Given the description of an element on the screen output the (x, y) to click on. 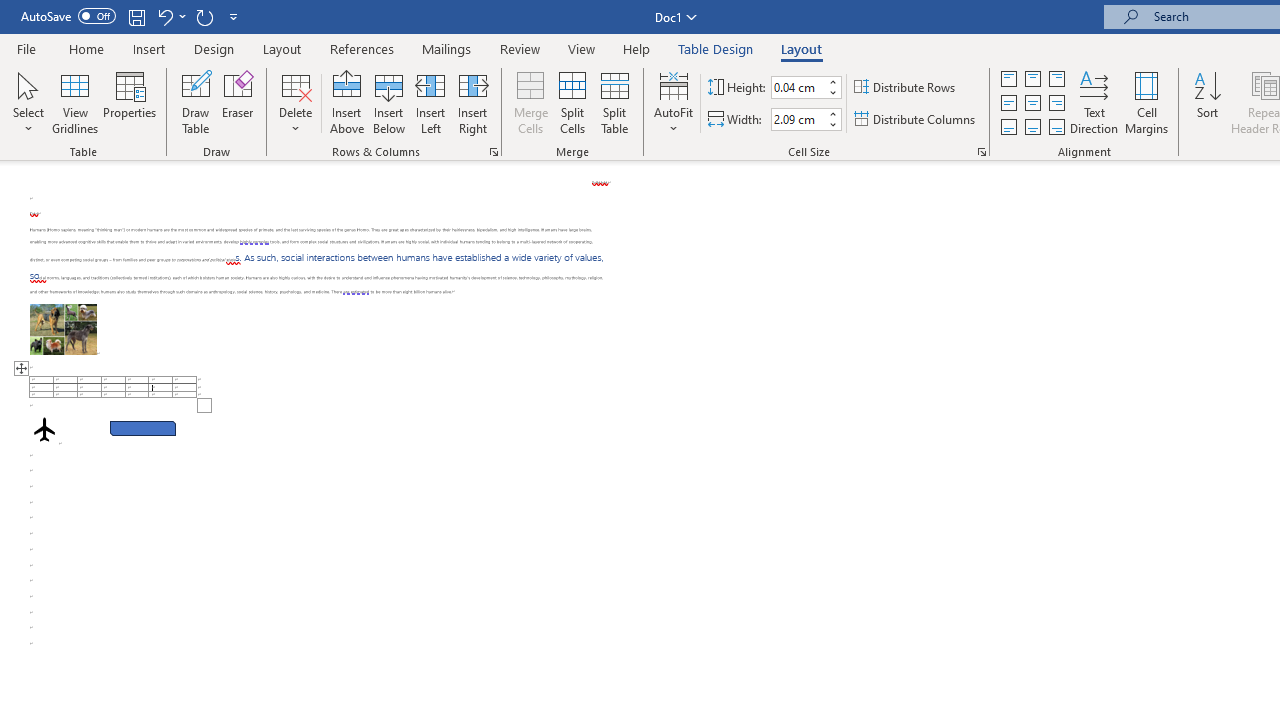
Merge Cells (530, 102)
Text Direction (1094, 102)
Split Table (614, 102)
Customize Quick Access Toolbar (234, 15)
Align Bottom Center (1032, 126)
Select (28, 102)
Align Bottom Justified (1009, 126)
Distribute Rows (906, 87)
Airplane with solid fill (43, 429)
Insert Right (472, 102)
Insert Above (347, 102)
Align Top Right (1056, 78)
Delete (296, 102)
Draw Table (196, 102)
